Given the description of an element on the screen output the (x, y) to click on. 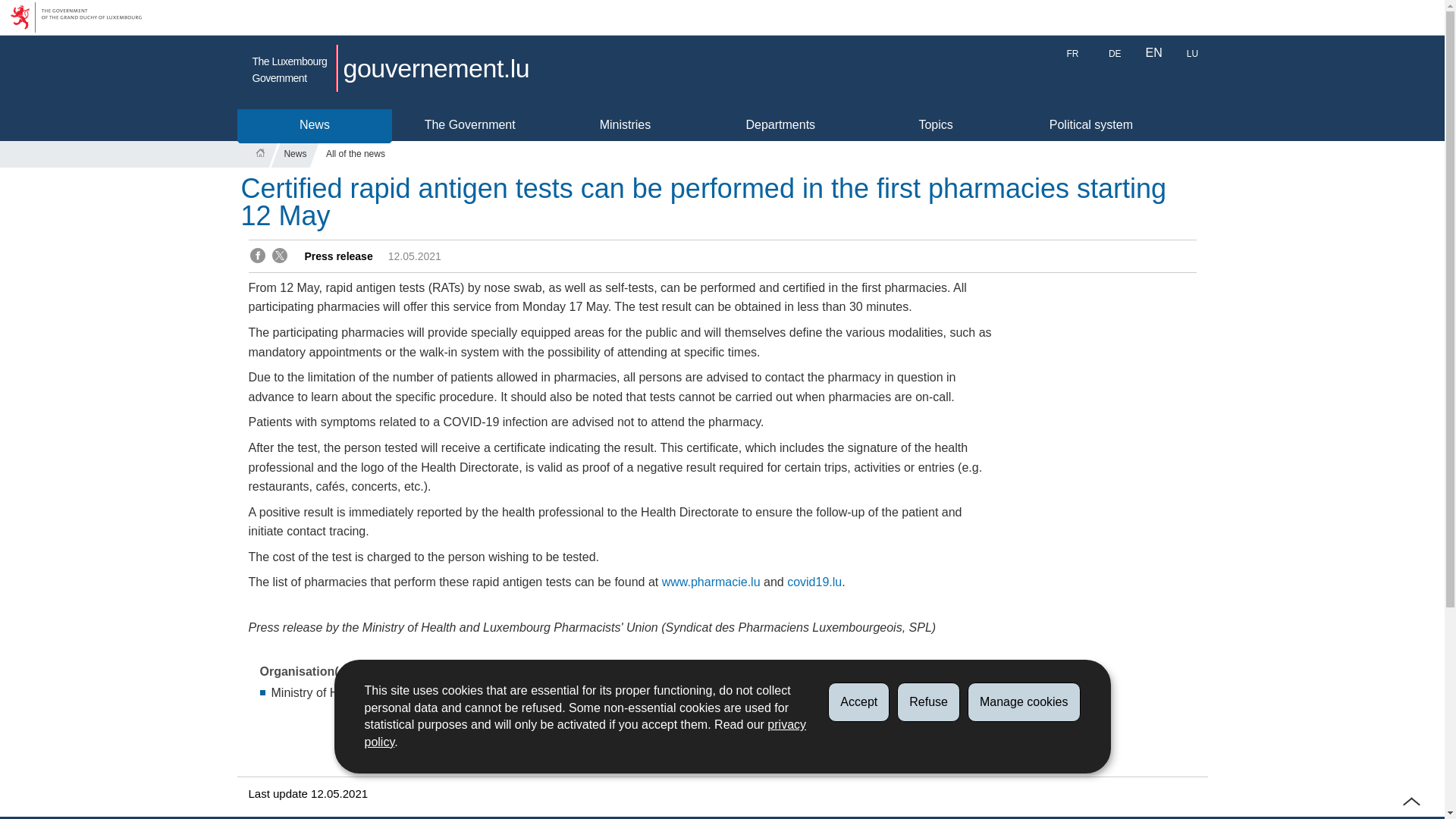
covid19.lu (814, 581)
Coronavirus (540, 692)
Manage cookies (1024, 701)
The Luxembourg Government gouvernement.lu (389, 70)
Accept (858, 701)
News (313, 124)
Refuse (927, 701)
FR (1072, 53)
LU (1192, 53)
